Given the description of an element on the screen output the (x, y) to click on. 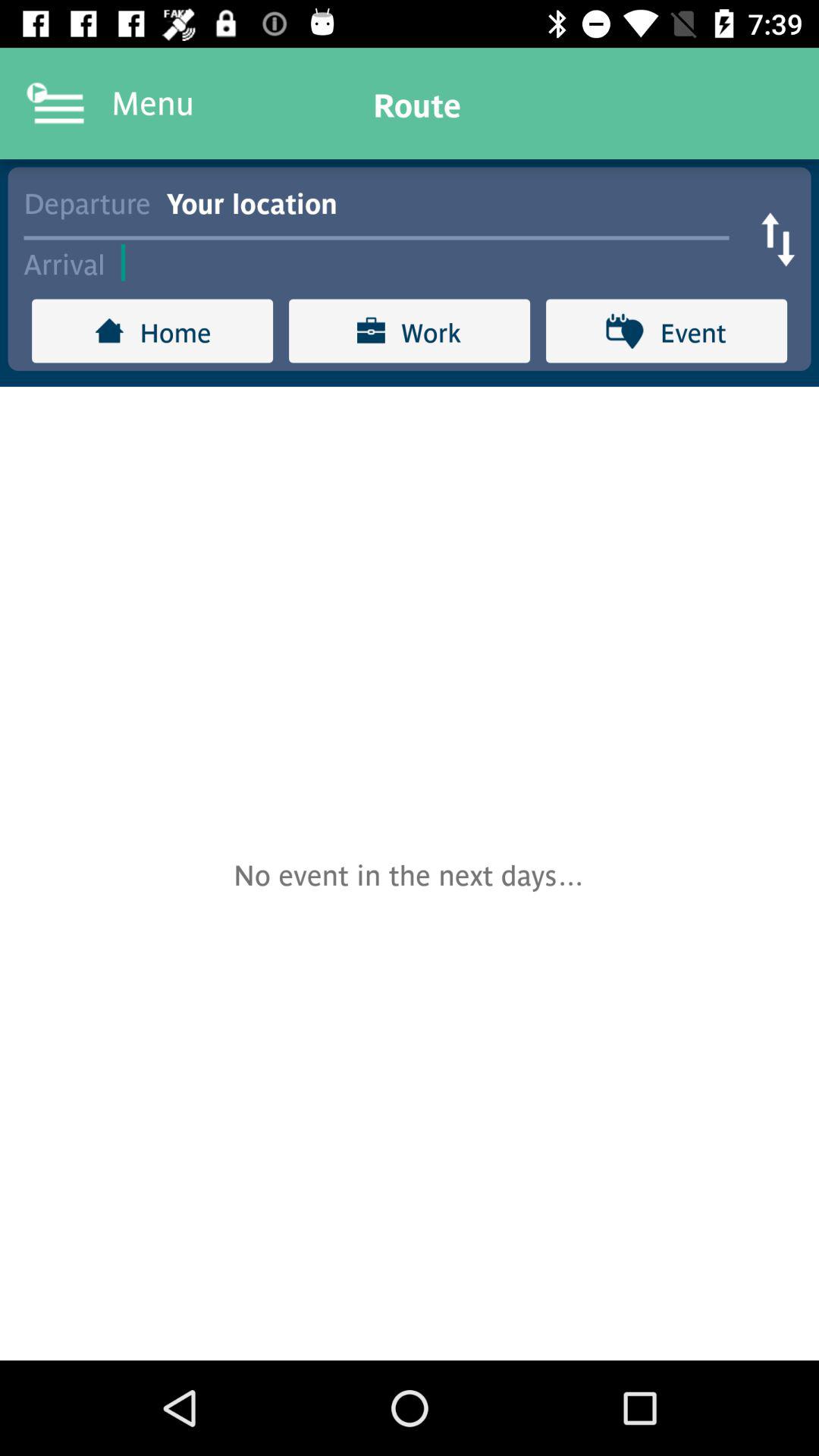
scroll to the your location icon (455, 201)
